Given the description of an element on the screen output the (x, y) to click on. 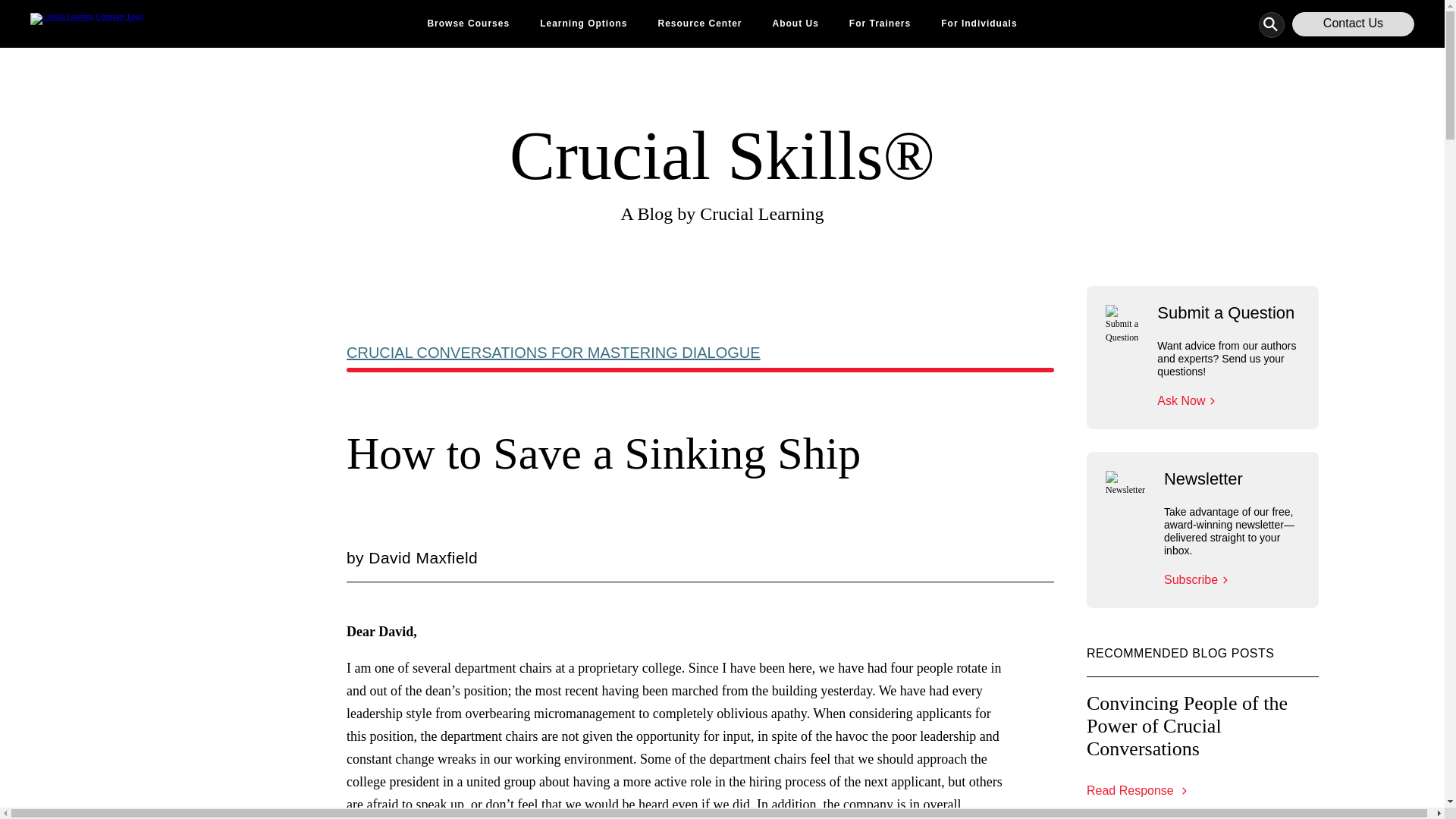
For Individuals (978, 24)
Resource Center (699, 24)
Browse Courses (467, 24)
Contact Us (1352, 24)
Learning Options (583, 24)
For Trainers (879, 24)
About Us (795, 24)
